Given the description of an element on the screen output the (x, y) to click on. 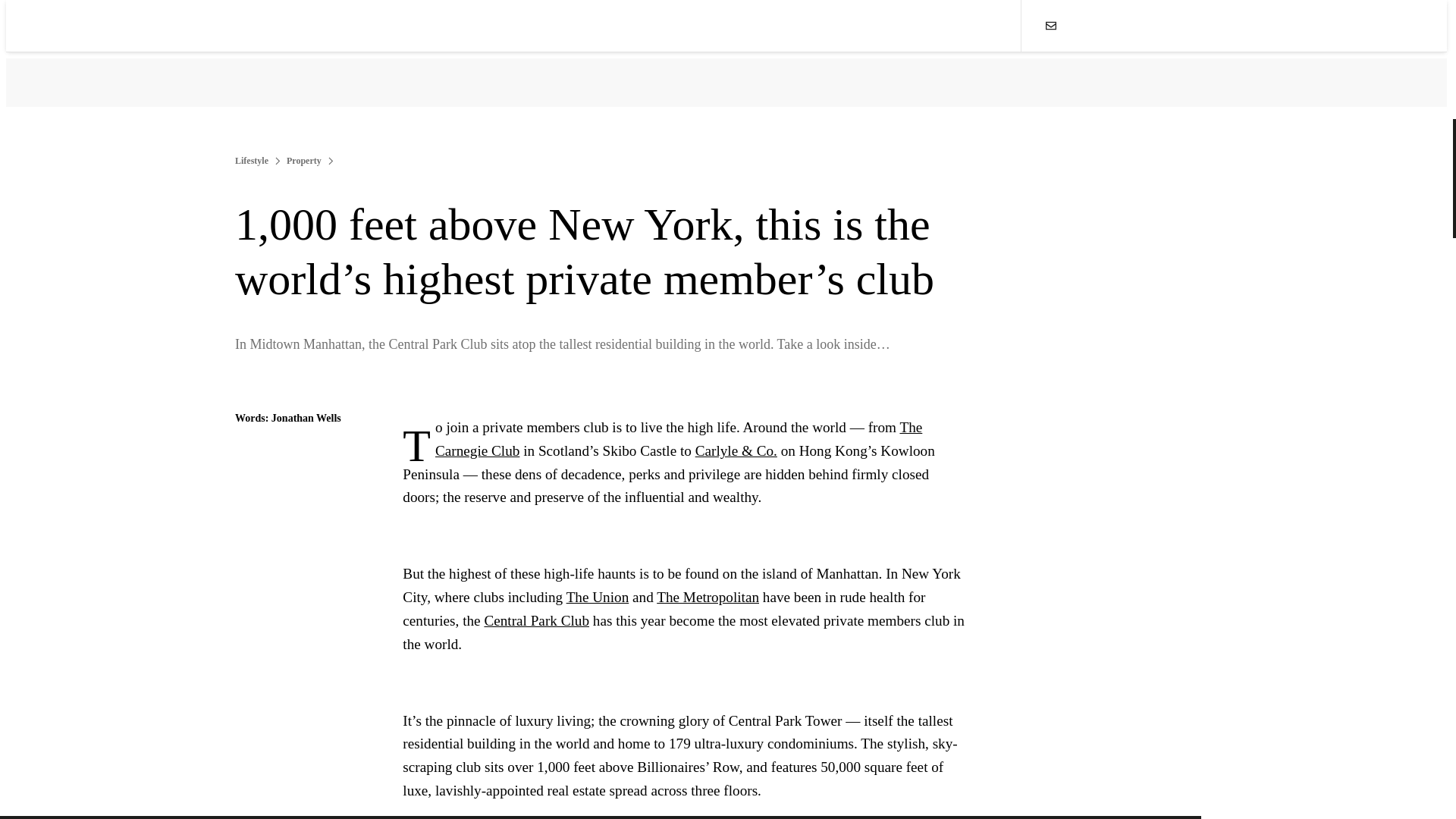
The Carnegie Club (678, 438)
The Union (597, 596)
Lifestyle (250, 161)
The Metropolitan (707, 596)
Central Park Club (536, 620)
Property (303, 161)
